Given the description of an element on the screen output the (x, y) to click on. 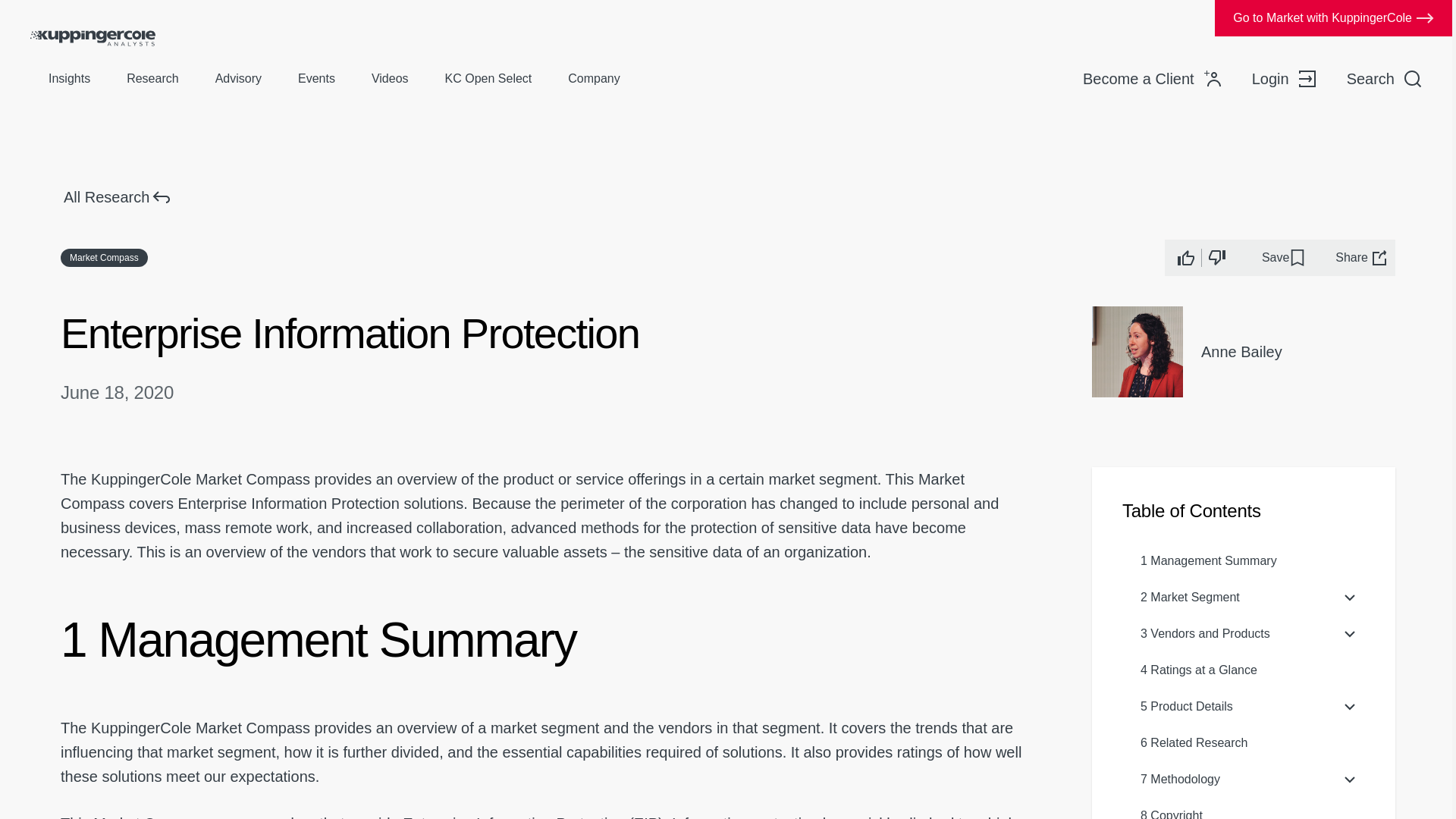
I like this (1185, 257)
Become a Client (1152, 78)
Search (1384, 78)
Bookmark this page (1283, 257)
Login (1284, 78)
I don't like this (1216, 257)
Share this page (1361, 257)
Go to Market with KuppingerCole (1332, 18)
